Given the description of an element on the screen output the (x, y) to click on. 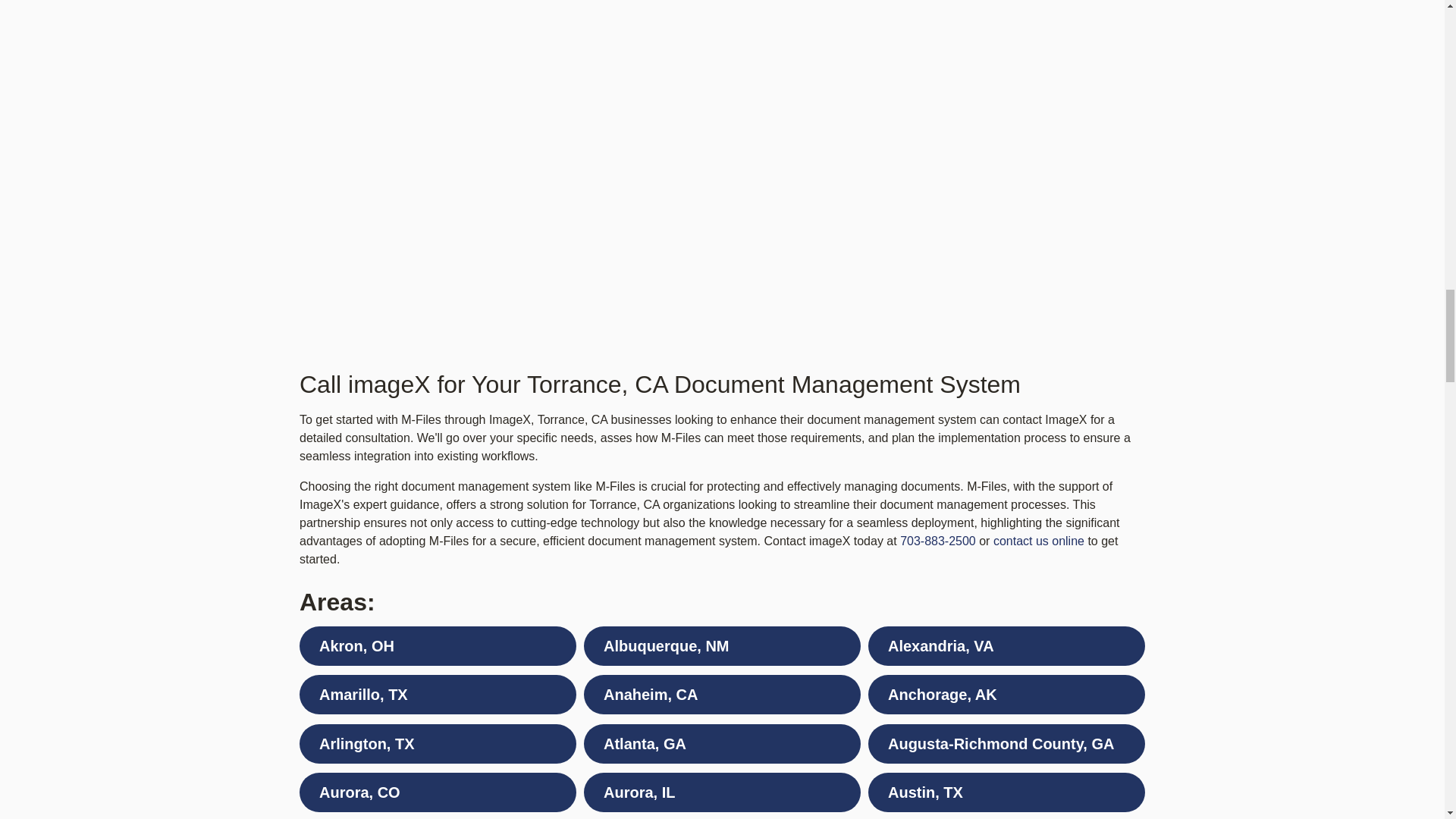
Anaheim, CA (721, 694)
Alexandria, VA (1005, 645)
Amarillo, TX (437, 694)
Akron, OH (437, 645)
Arlington, TX (437, 743)
Augusta-Richmond County, GA (1005, 743)
Albuquerque, NM (721, 645)
Austin, TX (1005, 792)
Atlanta, GA (721, 743)
Anchorage, AK (1005, 694)
Aurora, IL (721, 792)
Aurora, CO (437, 792)
